Given the description of an element on the screen output the (x, y) to click on. 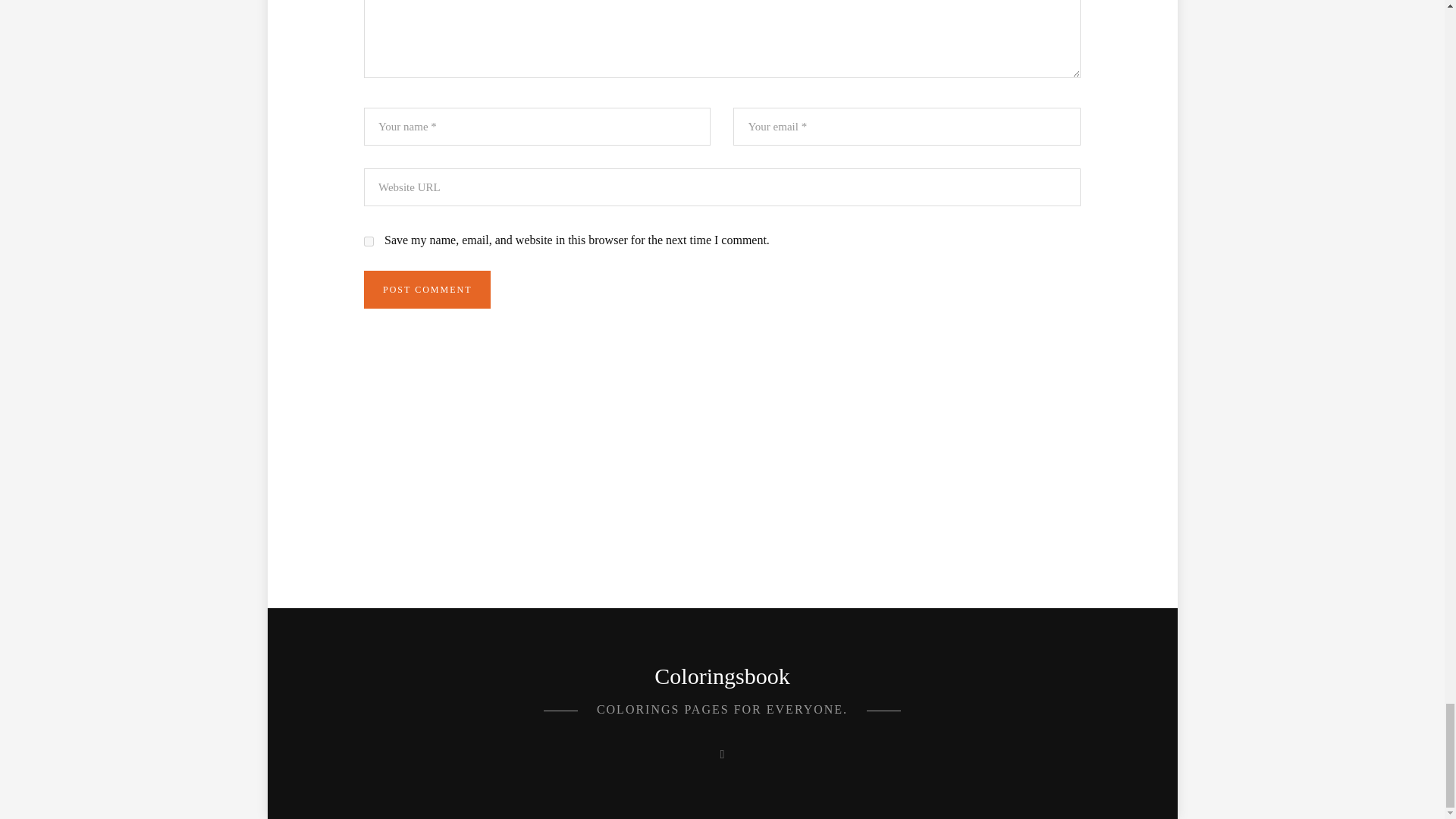
Post Comment (427, 289)
yes (369, 241)
